Given the description of an element on the screen output the (x, y) to click on. 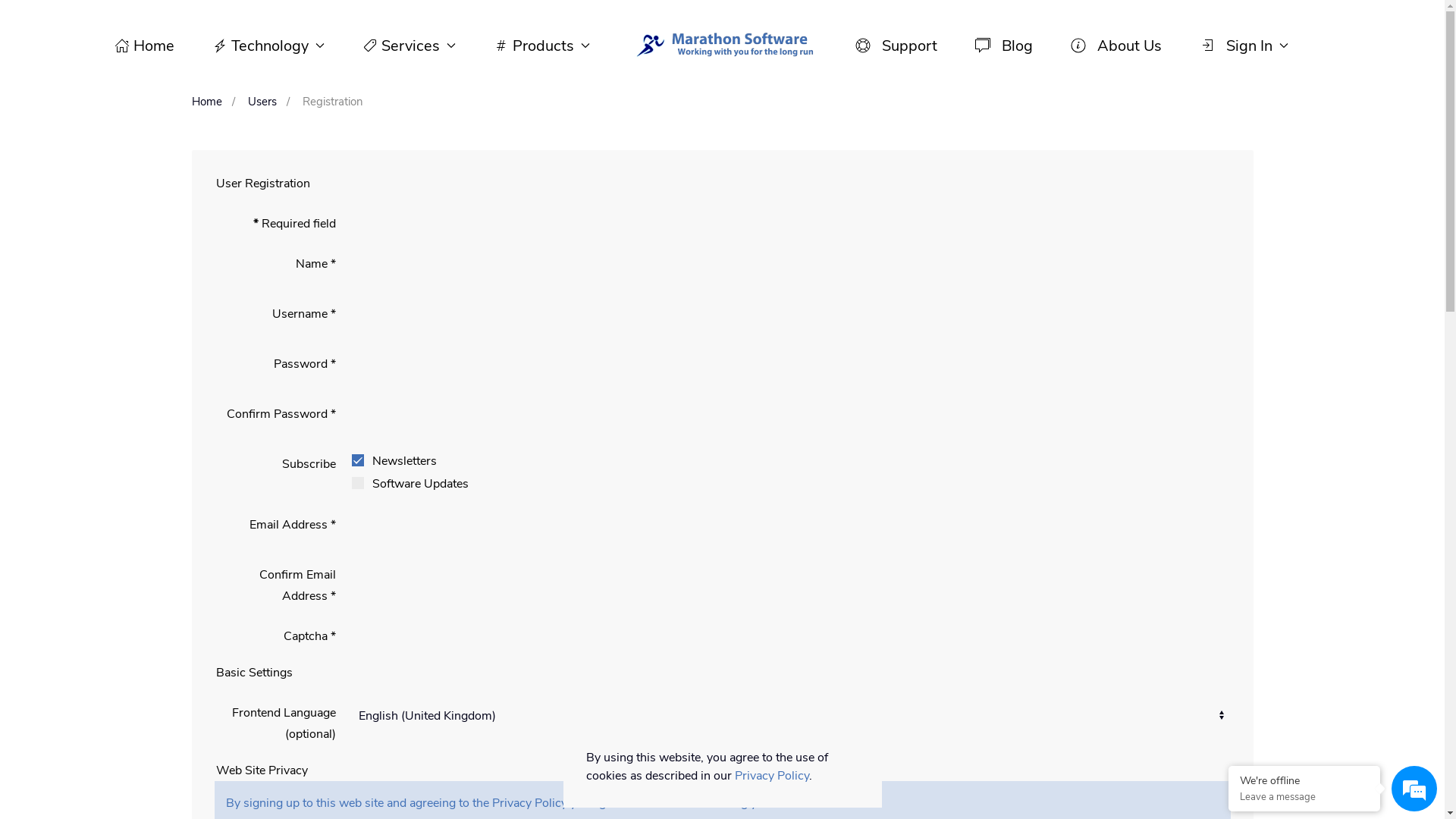
Users Element type: text (261, 101)
Privacy Policy Element type: text (771, 775)
Sign In Element type: text (1243, 45)
Home Element type: text (143, 45)
About Us Element type: text (1115, 45)
Services Element type: text (408, 45)
Technology Element type: text (268, 45)
Support Element type: text (896, 45)
Products Element type: text (540, 45)
Home Element type: text (206, 101)
Blog Element type: text (1003, 45)
